Given the description of an element on the screen output the (x, y) to click on. 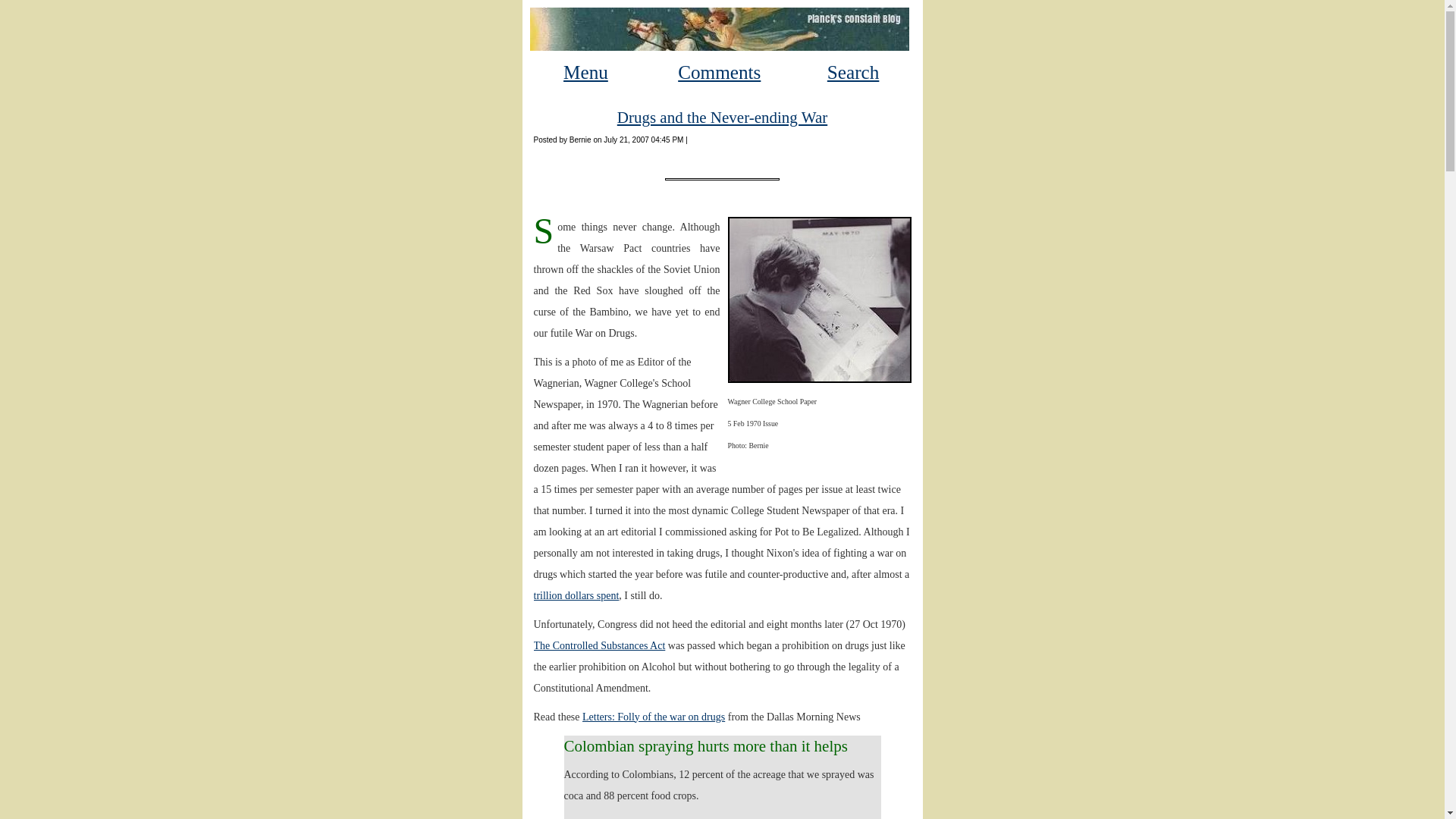
Letters: Folly of the war on drugs (653, 716)
The Controlled Substances Act (599, 645)
Menu (585, 72)
Drugs and the Never-ending War (722, 117)
Comments (719, 72)
Search (853, 72)
trillion dollars spent (577, 595)
